Given the description of an element on the screen output the (x, y) to click on. 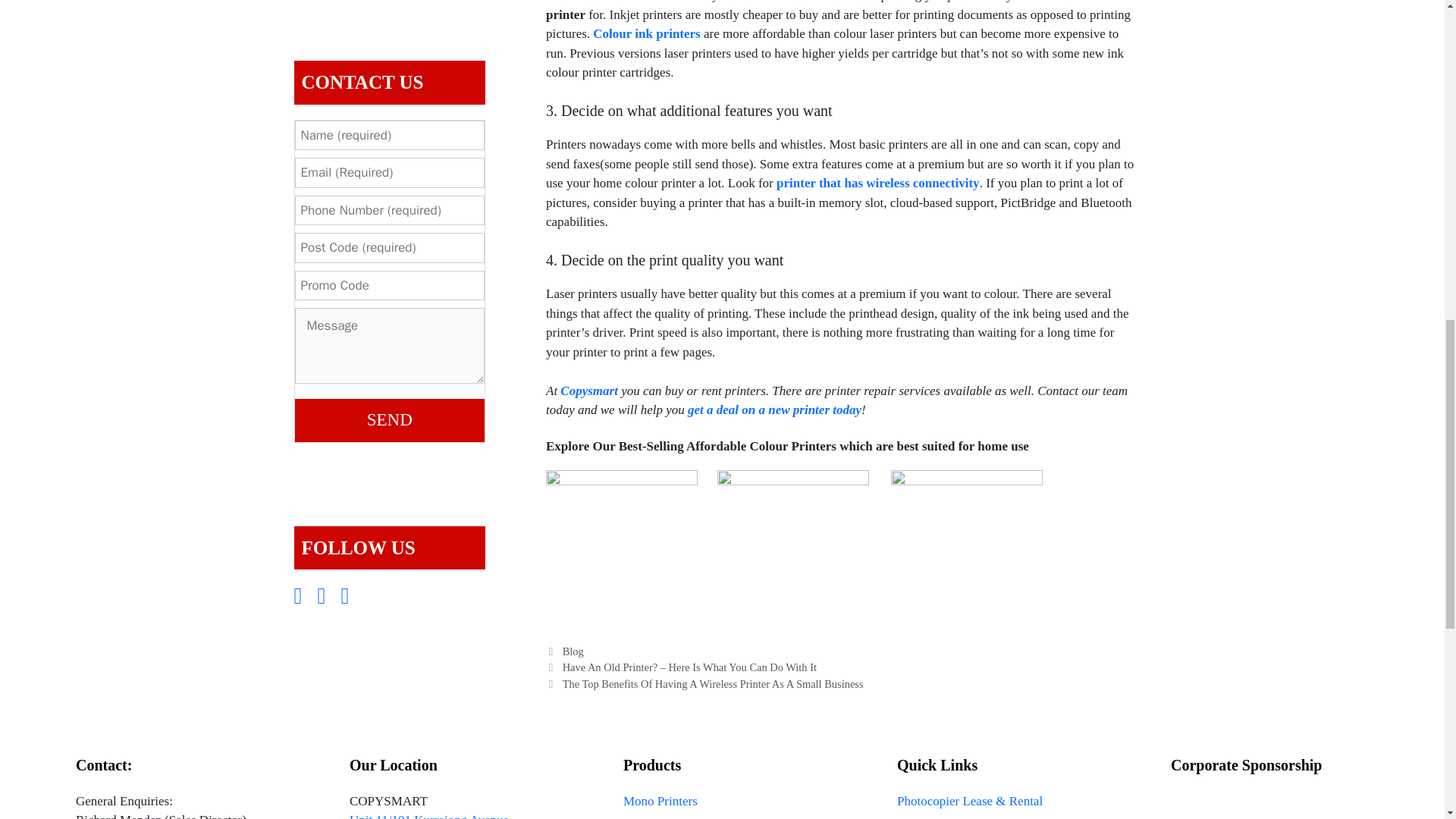
Previous (681, 666)
Send (389, 420)
Next (704, 684)
